Given the description of an element on the screen output the (x, y) to click on. 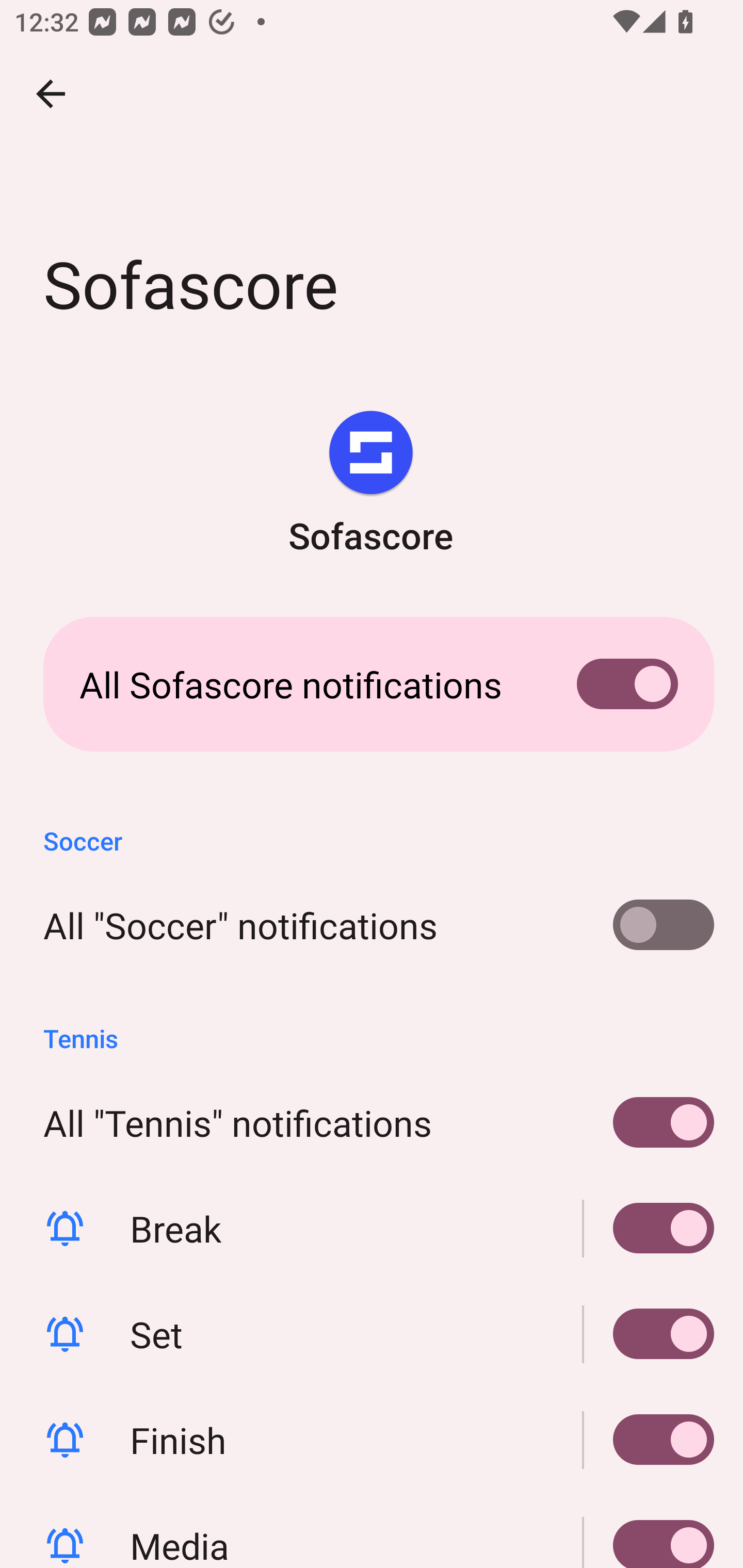
Navigate up (50, 93)
Sofascore (370, 484)
All Sofascore notifications (371, 684)
All "Soccer" notifications (371, 924)
All "Tennis" notifications (371, 1122)
Break (371, 1228)
Break (648, 1228)
Set (371, 1334)
Set (648, 1334)
Finish (371, 1439)
Finish (648, 1439)
Media (371, 1530)
Media (648, 1530)
